Given the description of an element on the screen output the (x, y) to click on. 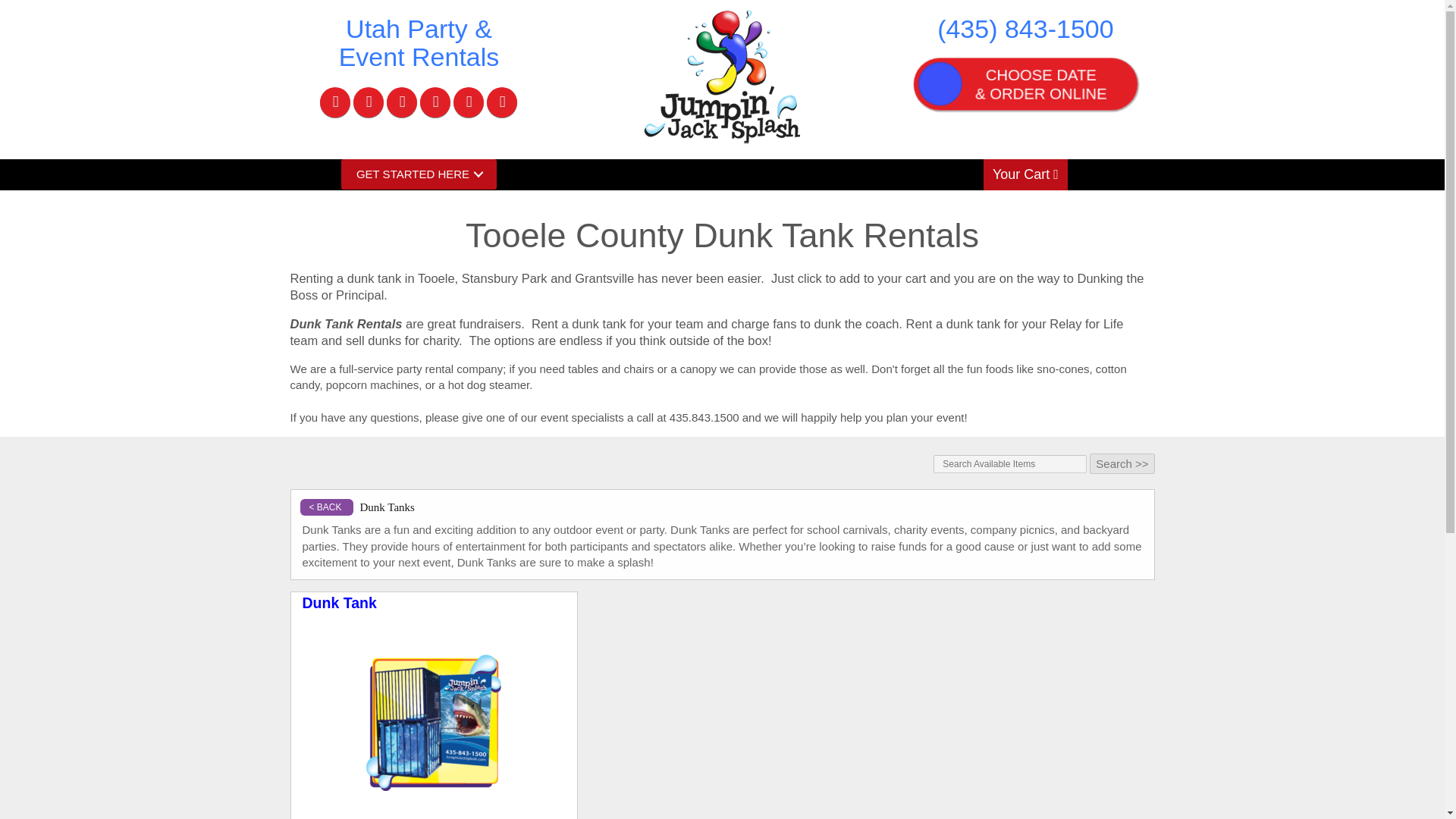
GET STARTED HERE (418, 173)
Dunk Tank  (433, 722)
Jumpin' Jack Splash YouTube (434, 101)
Jumpin' Jack Splash Twitter (368, 101)
Jumpin' Jack Splash Instagram (467, 101)
Jumpin' Jack Splash Pinterest (501, 101)
Jumpin' Jack Splash Google Plus (401, 101)
Jumpin' Jack Splash Facebook (335, 101)
